Given the description of an element on the screen output the (x, y) to click on. 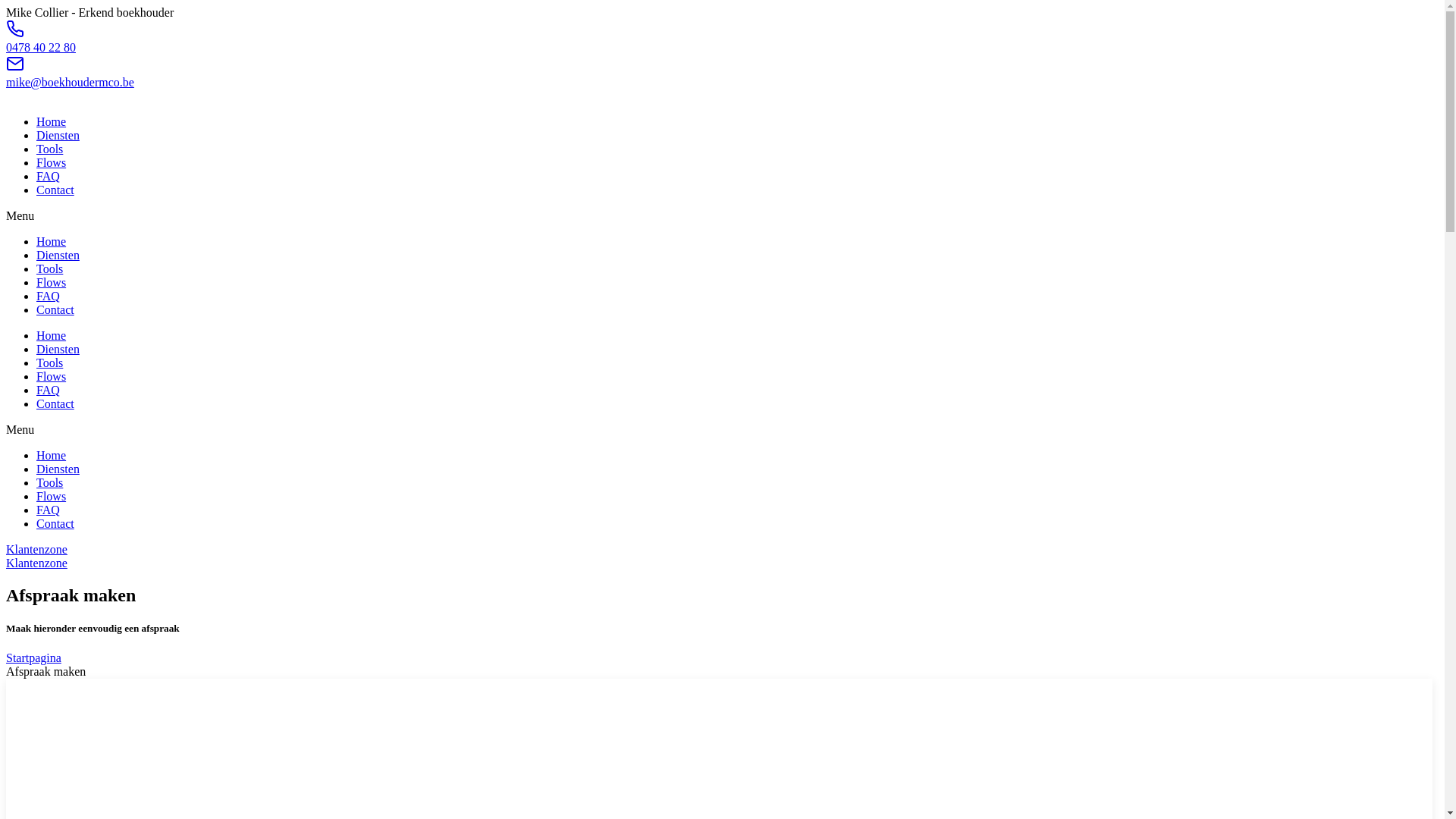
Tools Element type: text (49, 148)
FAQ Element type: text (47, 509)
Klantenzone Element type: text (36, 548)
Flows Element type: text (50, 282)
FAQ Element type: text (47, 389)
Flows Element type: text (50, 376)
Tools Element type: text (49, 362)
Diensten Element type: text (57, 134)
Contact Element type: text (55, 189)
Diensten Element type: text (57, 348)
Home Element type: text (50, 454)
Home Element type: text (50, 241)
Home Element type: text (50, 335)
0478 40 22 80 Element type: text (40, 46)
Tools Element type: text (49, 268)
Klantenzone Element type: text (36, 562)
FAQ Element type: text (47, 295)
Diensten Element type: text (57, 254)
Contact Element type: text (55, 309)
Startpagina Element type: text (33, 657)
Flows Element type: text (50, 162)
Home Element type: text (50, 121)
mike@boekhoudermco.be Element type: text (70, 81)
Flows Element type: text (50, 495)
Contact Element type: text (55, 403)
Diensten Element type: text (57, 468)
FAQ Element type: text (47, 175)
Contact Element type: text (55, 523)
Tools Element type: text (49, 482)
